Given the description of an element on the screen output the (x, y) to click on. 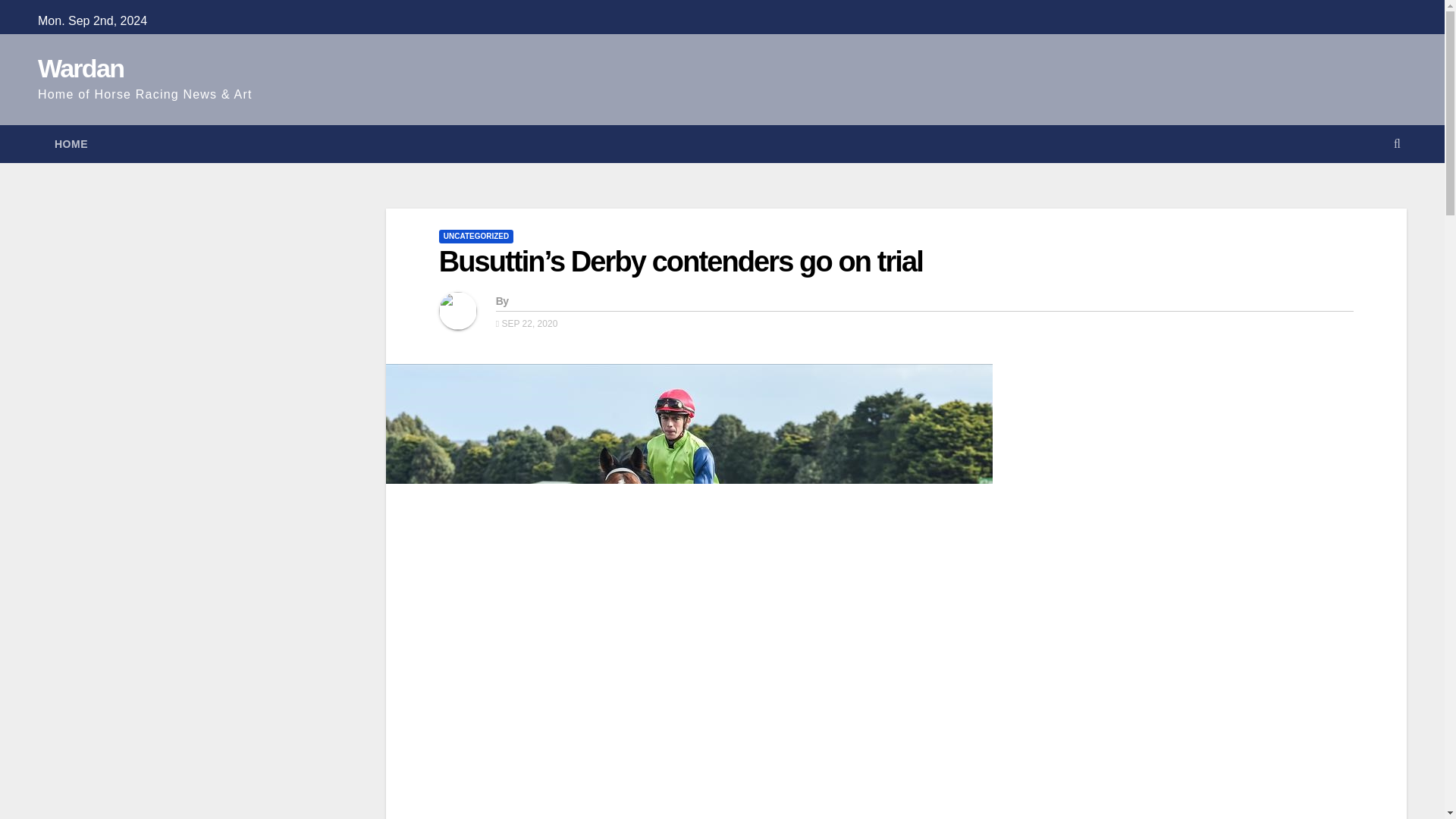
HOME (70, 143)
UNCATEGORIZED (476, 236)
Home (70, 143)
Wardan (80, 68)
